Given the description of an element on the screen output the (x, y) to click on. 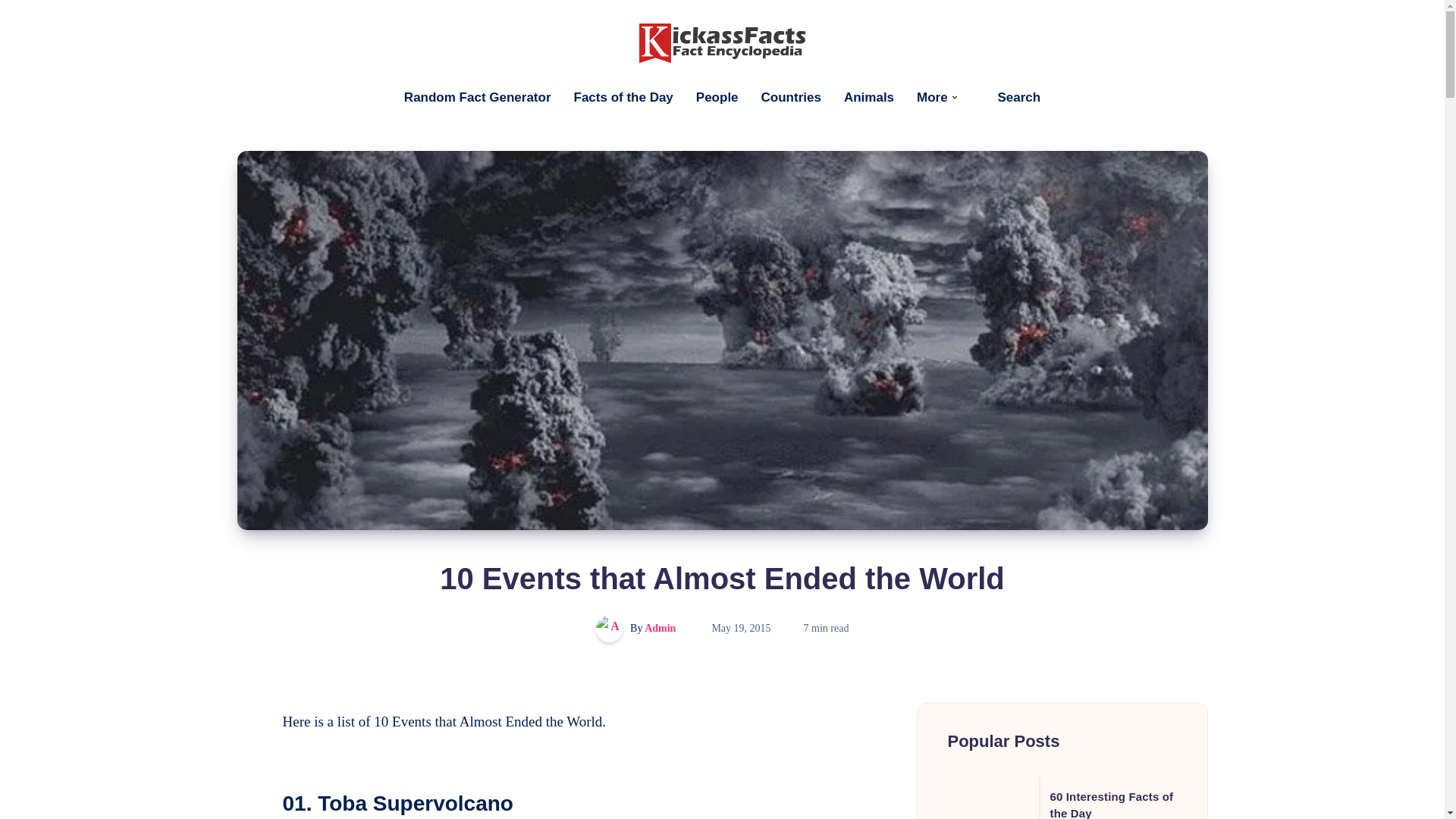
People (716, 97)
Facts of the Day (622, 97)
Animals (868, 97)
More (932, 97)
Countries (791, 97)
Random Fact Generator (477, 97)
